Given the description of an element on the screen output the (x, y) to click on. 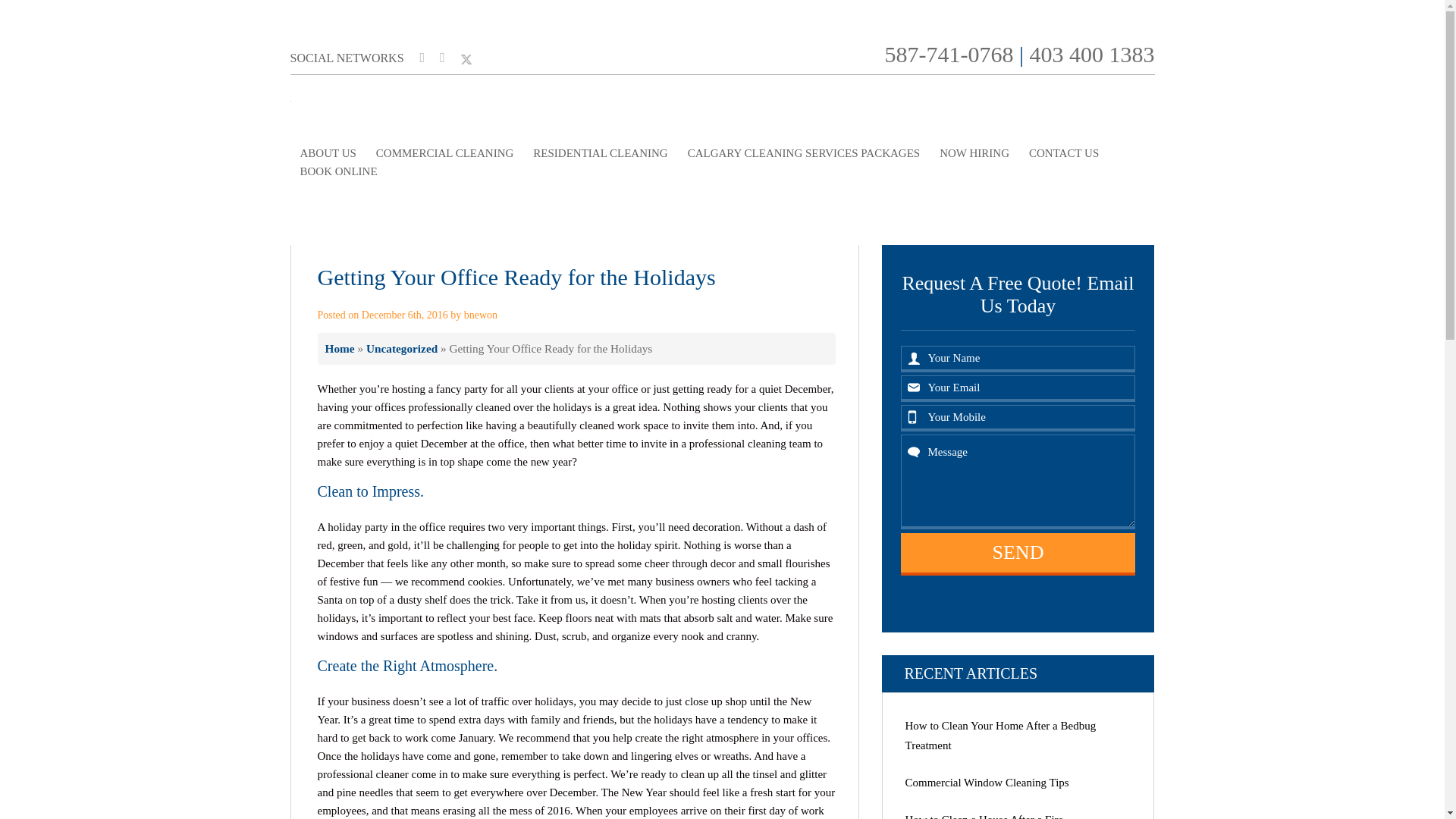
ABOUT US (327, 153)
403 400 1383 (1091, 53)
CALGARY CLEANING SERVICES PACKAGES (804, 153)
Commercial Window Cleaning Tips (986, 782)
Uncategorized (402, 348)
CONTACT US (1063, 153)
RESIDENTIAL CLEANING (599, 153)
BOOK ONLINE (338, 171)
How to Clean Your Home After a Bedbug Treatment (1000, 735)
COMMERCIAL CLEANING (445, 153)
